Given the description of an element on the screen output the (x, y) to click on. 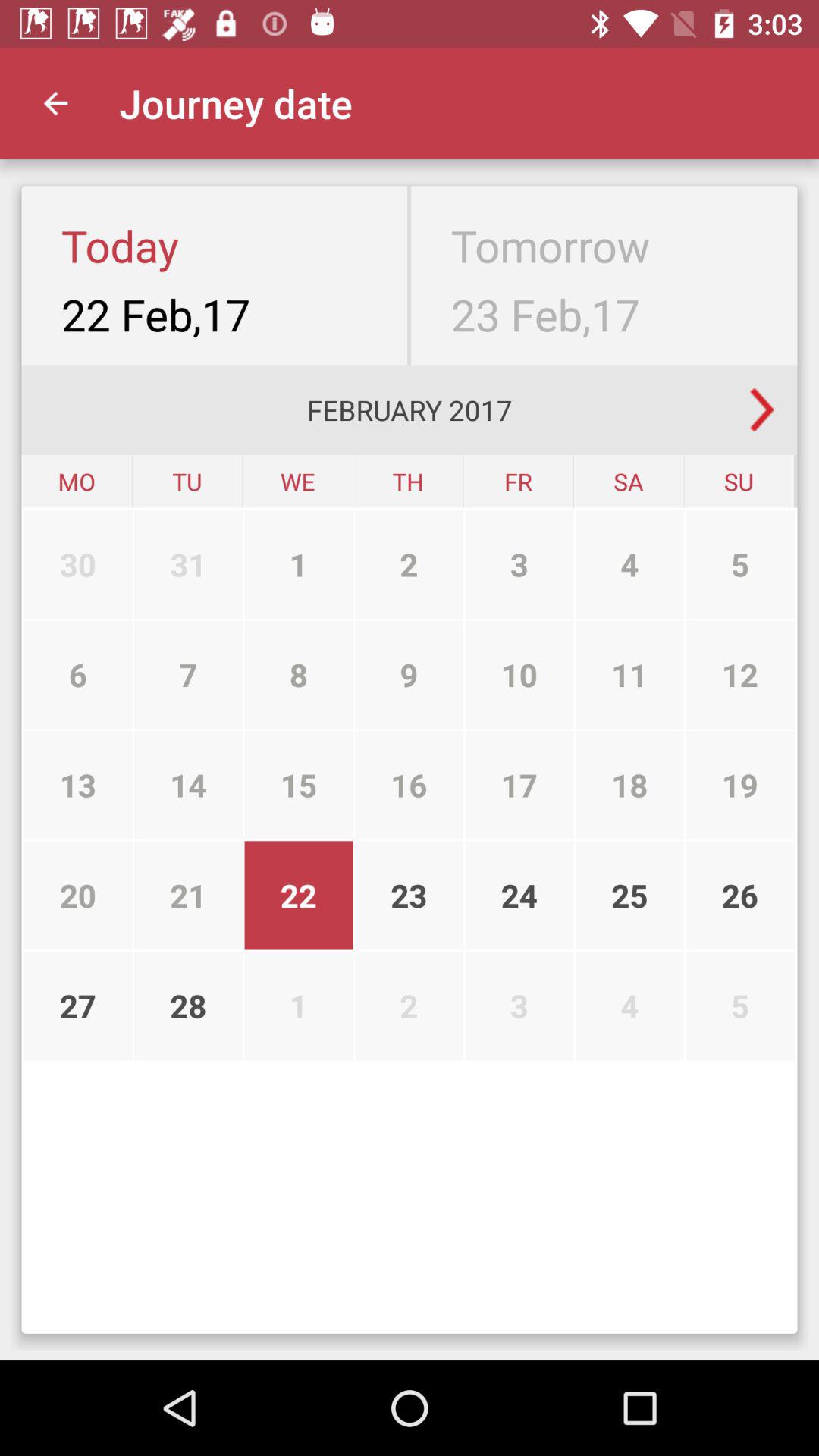
turn off the icon next to journey date app (55, 103)
